Given the description of an element on the screen output the (x, y) to click on. 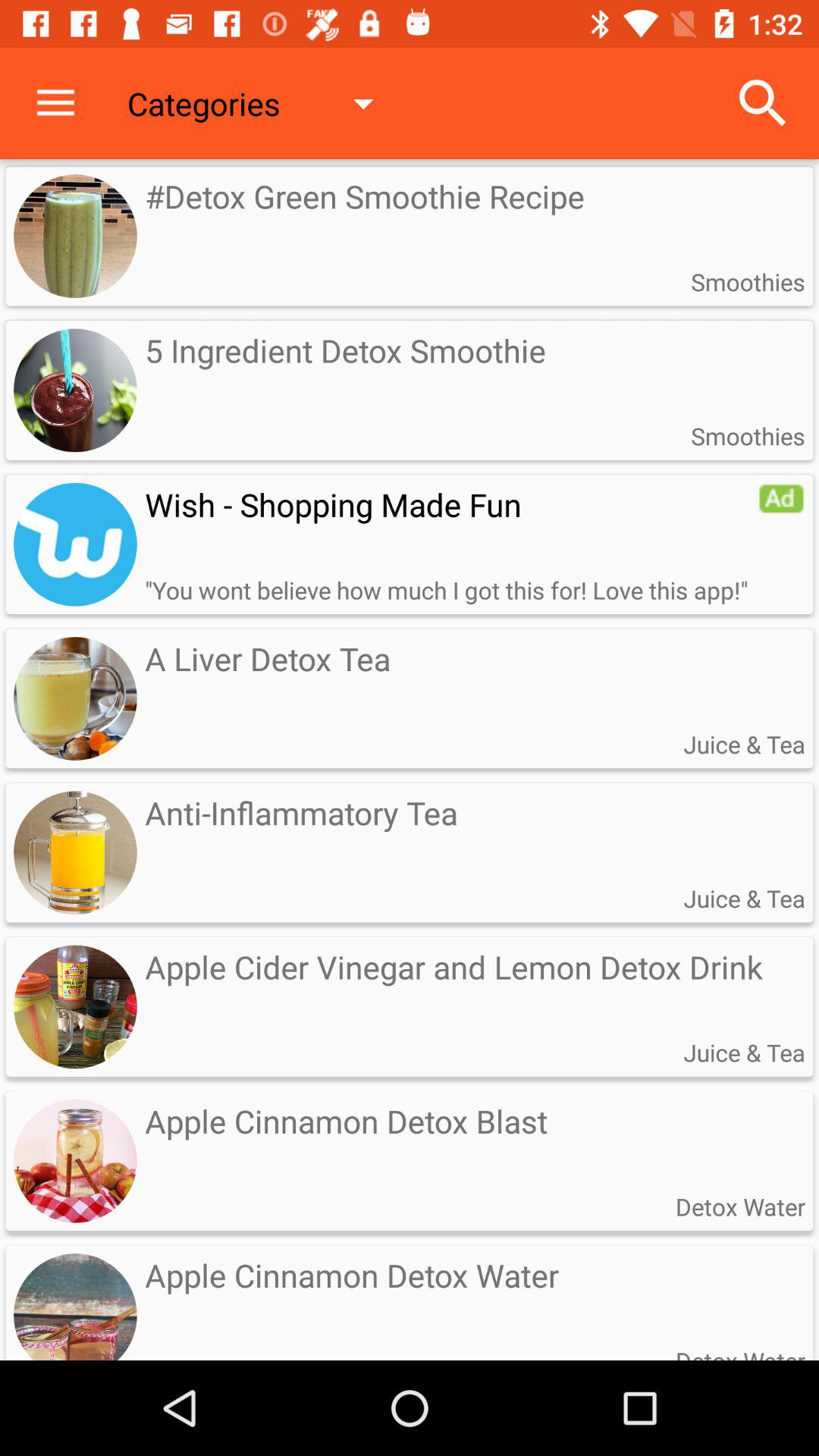
select icon above the juice & tea item (781, 498)
